Given the description of an element on the screen output the (x, y) to click on. 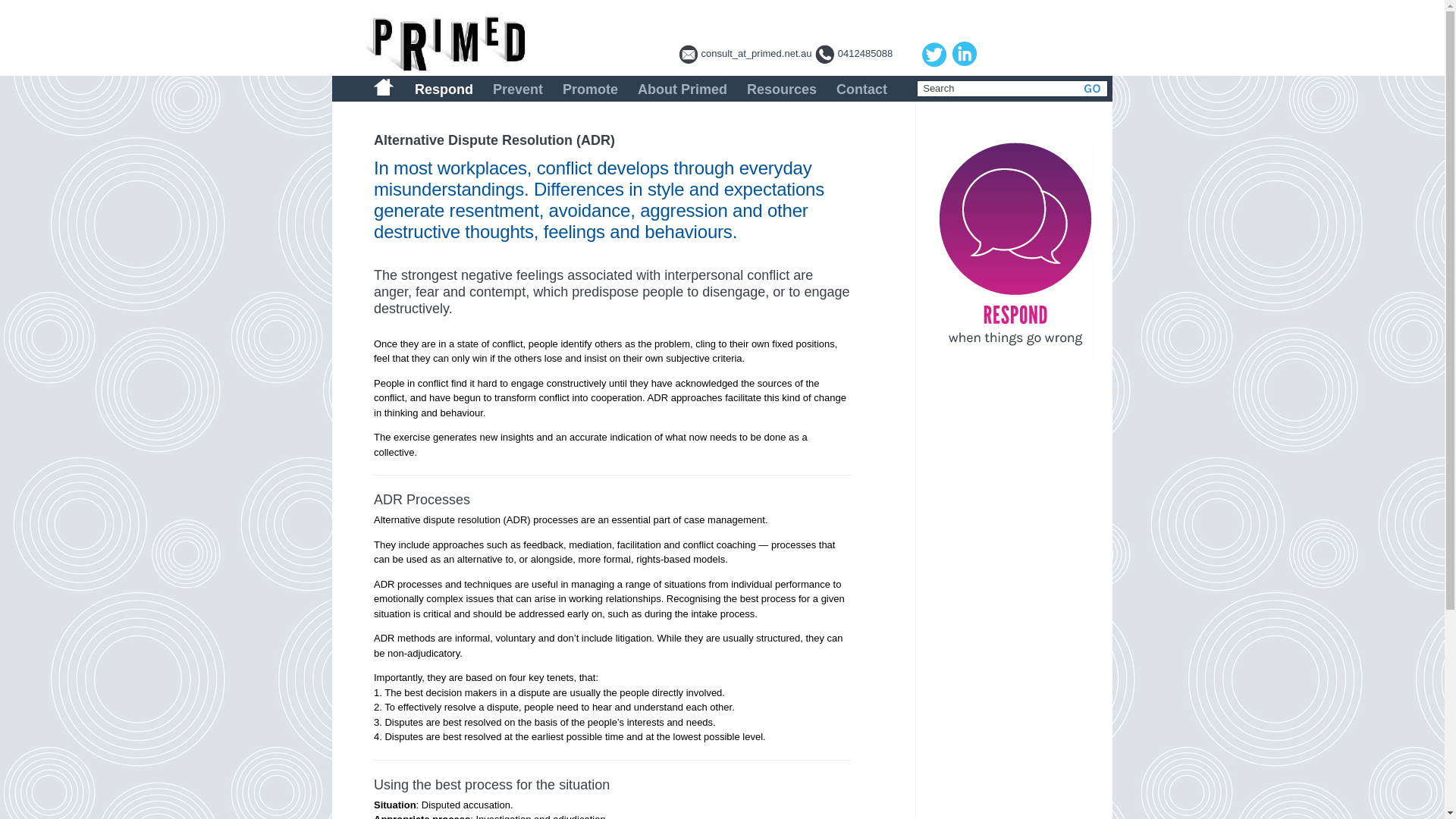
Respond Element type: text (443, 86)
Promote Element type: text (589, 86)
Prevent Element type: text (517, 86)
About Primed Element type: text (682, 86)
Contact Element type: text (861, 86)
linkedin Element type: hover (964, 53)
twitter Element type: hover (934, 54)
consult_at_primed.net.au Element type: text (756, 53)
Resources Element type: text (781, 86)
0412485088 Element type: text (864, 53)
